Given the description of an element on the screen output the (x, y) to click on. 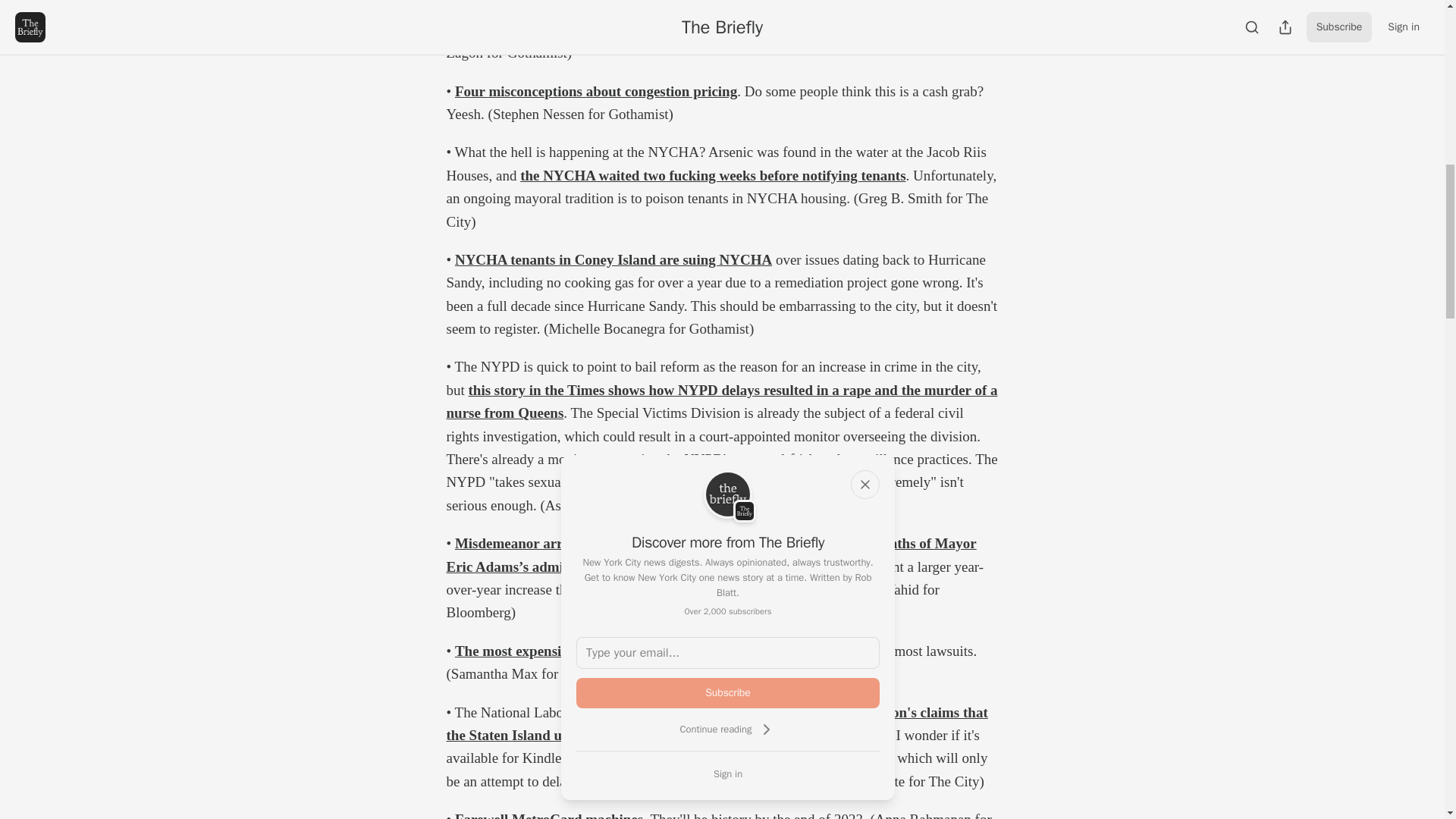
Sign in (727, 773)
J'Ouvert and the West Indian Day Parade (631, 29)
The most expensive NYPD lawsuits of the year (597, 650)
Farewell MetroCard machines (548, 815)
NYCHA tenants in Coney Island are suing NYCHA (612, 259)
Four misconceptions about congestion pricing (595, 91)
Subscribe (727, 693)
the NYCHA waited two fucking weeks before notifying tenants (712, 175)
